Given the description of an element on the screen output the (x, y) to click on. 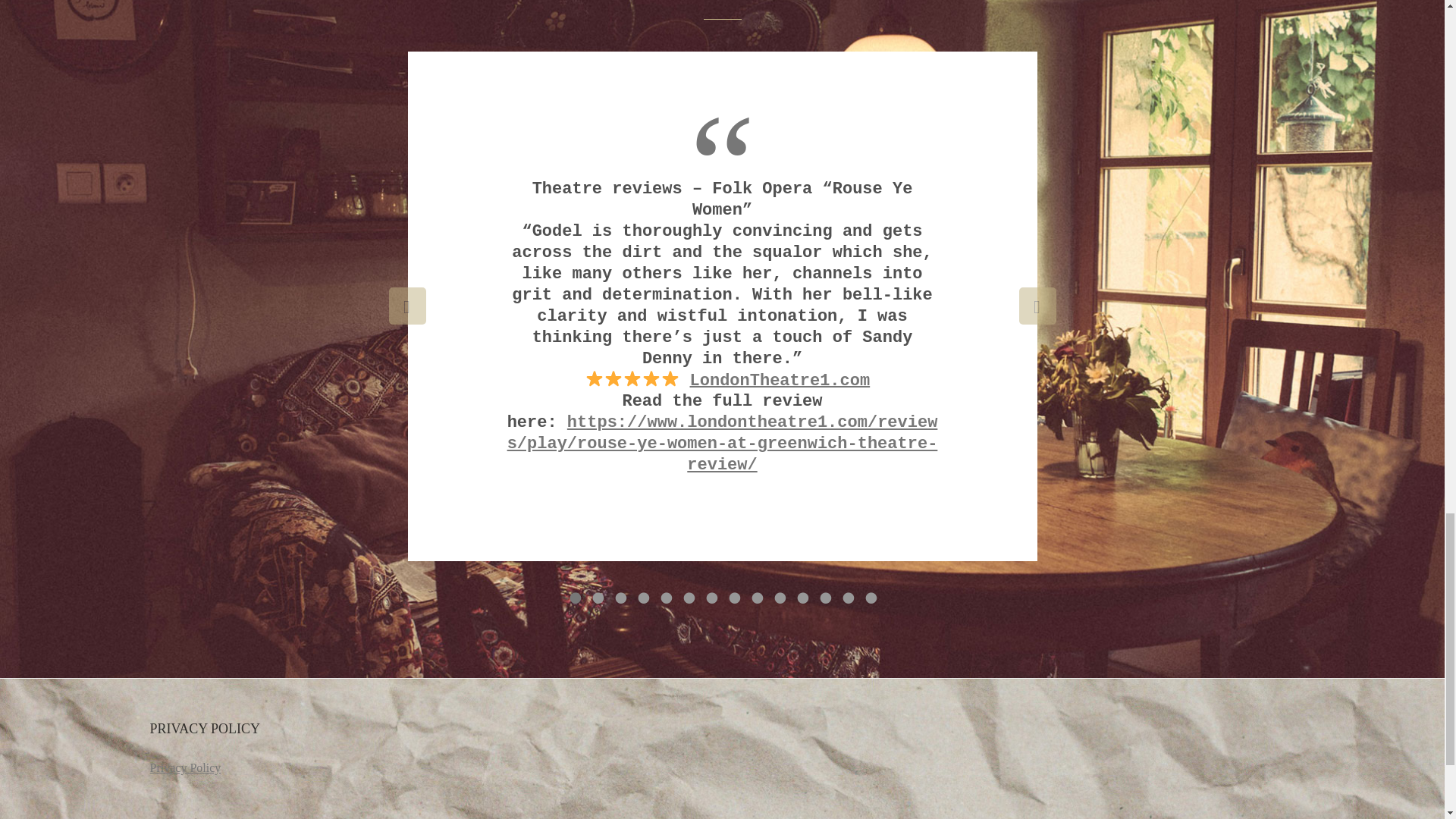
PREVIOUS SLIDE (406, 305)
NEXT SLIDE (1038, 305)
LondonTheatre1.com (780, 380)
